Given the description of an element on the screen output the (x, y) to click on. 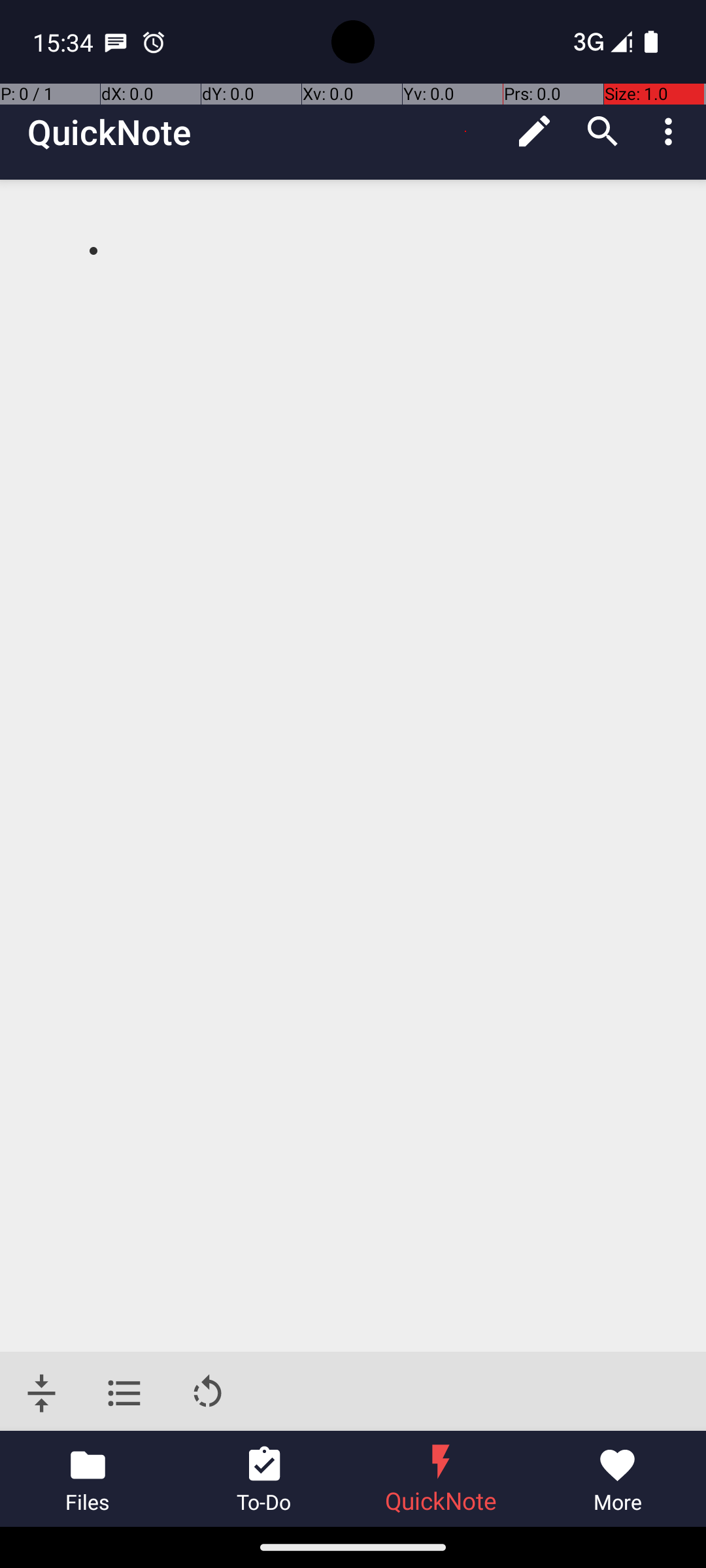
•  Element type: android.view.View (92, 249)
